Given the description of an element on the screen output the (x, y) to click on. 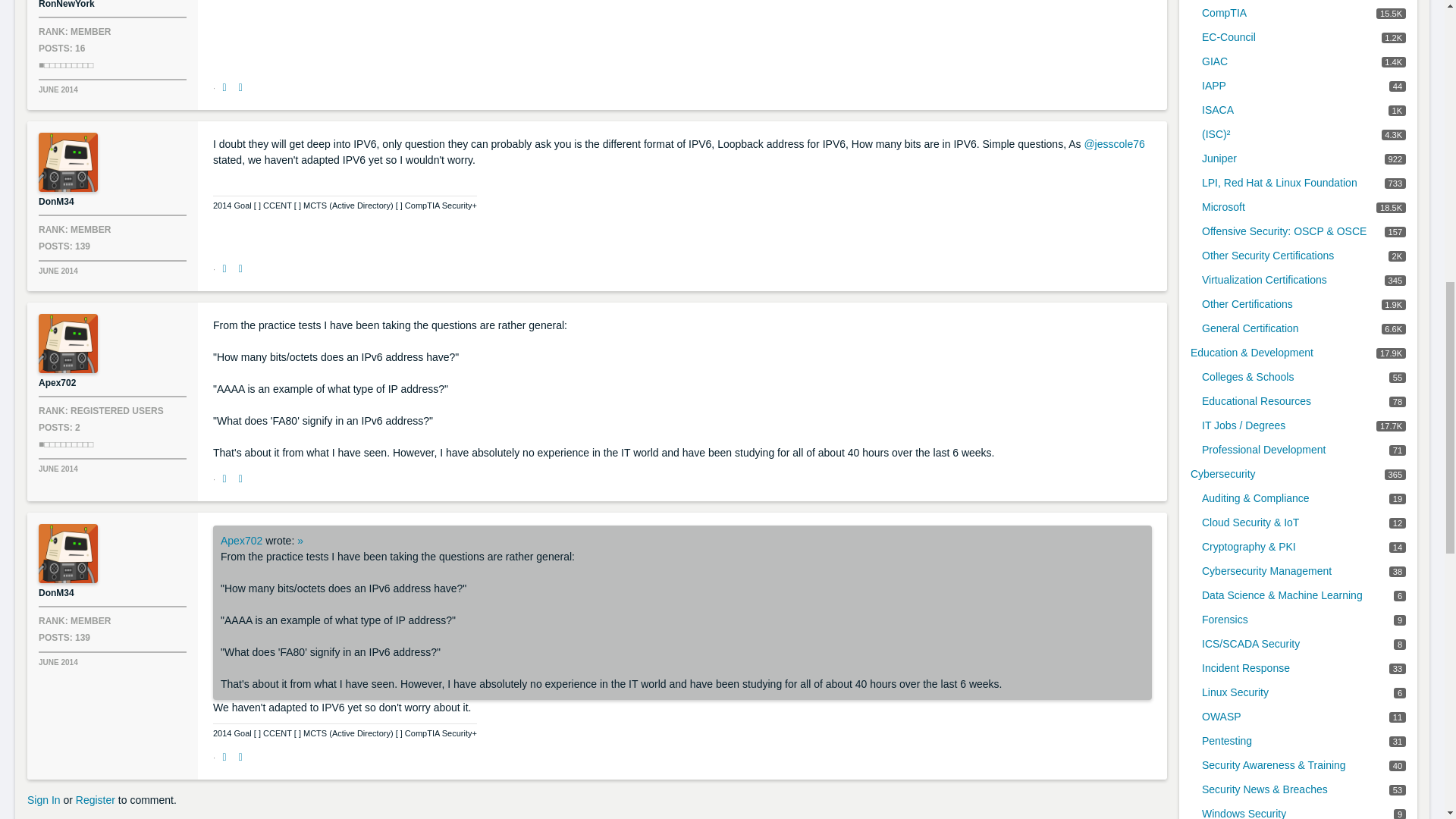
DonM34 (68, 553)
Recruit (66, 63)
June 27, 2014 12:07PM (58, 662)
June 13, 2014 3:09PM (58, 89)
June 16, 2014 12:53PM (58, 270)
Apex702 (68, 343)
Recruit (66, 443)
DonM34 (68, 161)
June 27, 2014 8:46AM (58, 468)
